Given the description of an element on the screen output the (x, y) to click on. 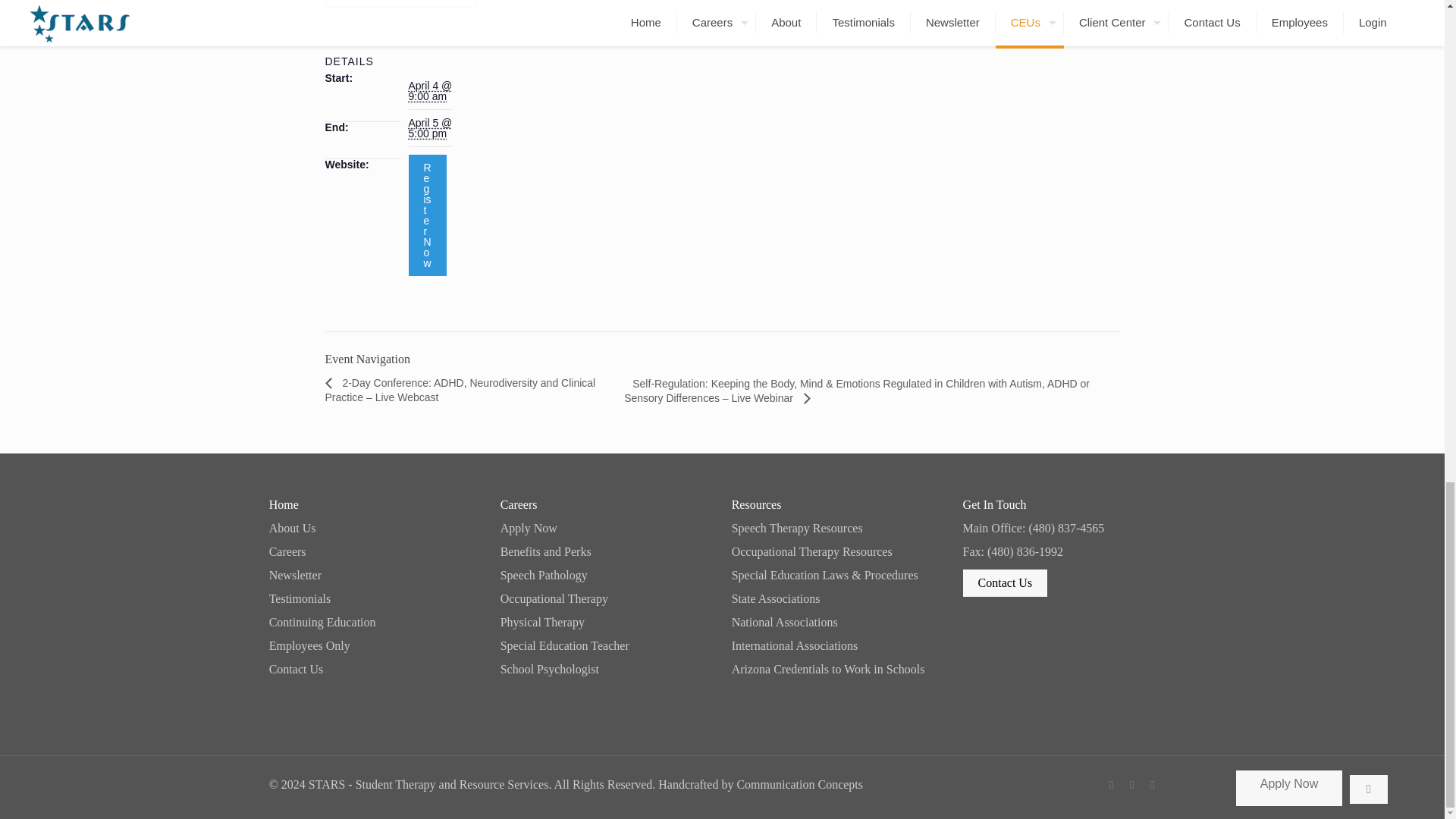
2024-04-05 (429, 128)
Continuing Education (375, 622)
Careers (375, 551)
Facebook (1111, 784)
Twitter (1132, 784)
2024-04-04 (429, 90)
About Us (375, 528)
Employees Only (375, 645)
Home (375, 504)
Newsletter (375, 575)
YouTube (1152, 784)
Testimonials (375, 598)
